Given the description of an element on the screen output the (x, y) to click on. 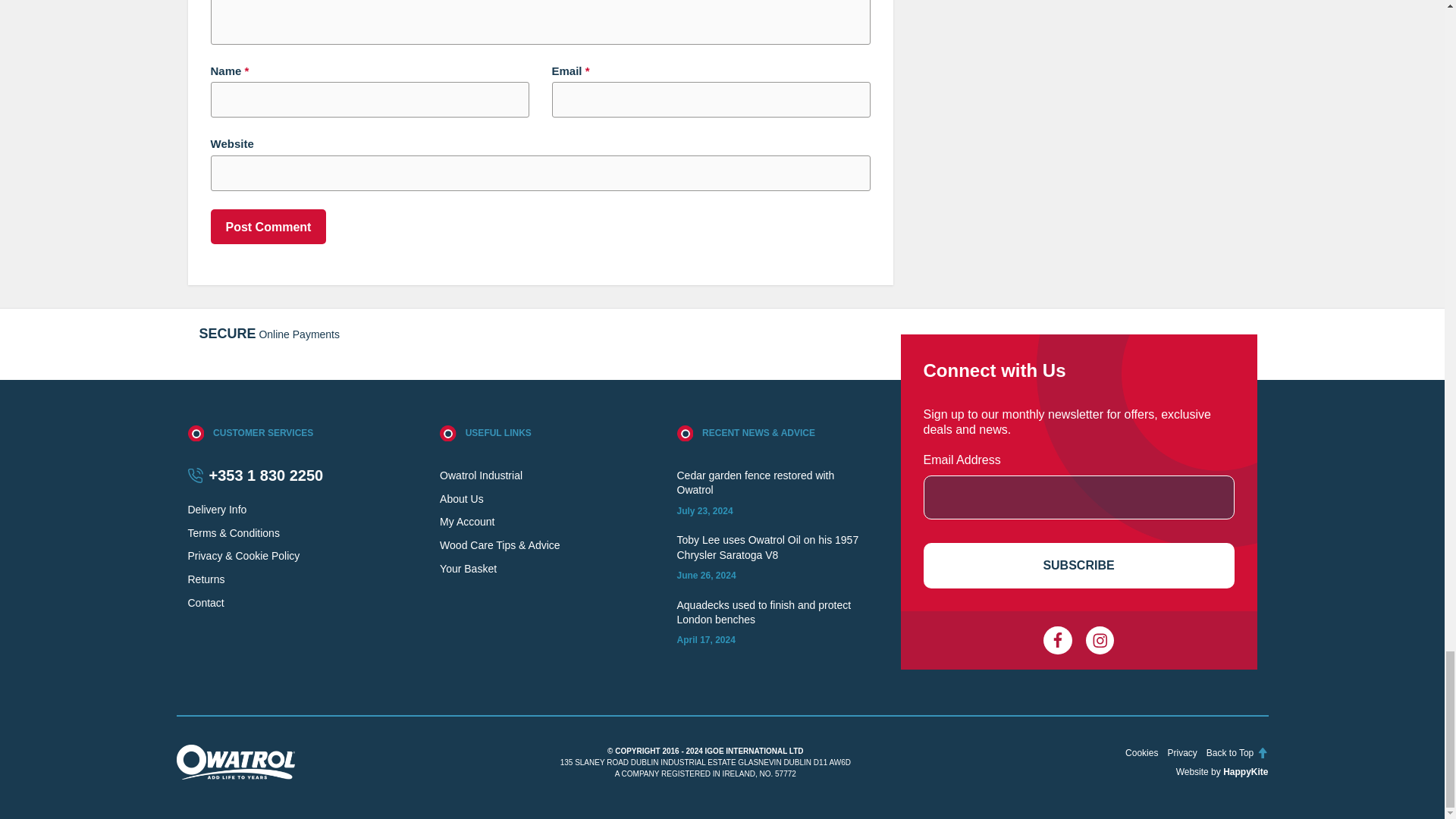
Post Comment (268, 226)
Follow on Instagram (1100, 640)
Like on Facebook (1057, 640)
Subscribe (1078, 565)
